Given the description of an element on the screen output the (x, y) to click on. 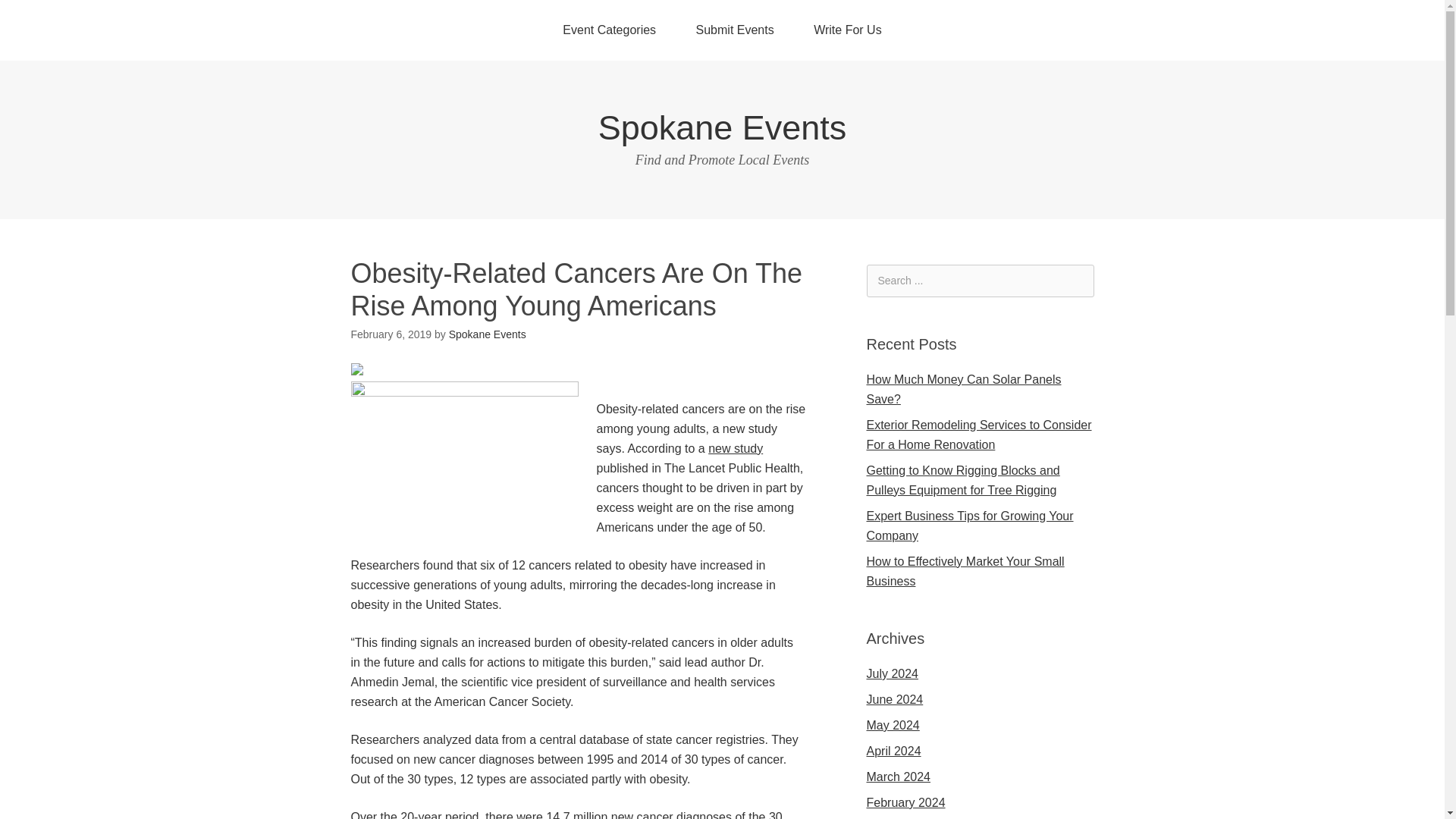
Spokane Events (722, 127)
How Much Money Can Solar Panels Save? (963, 389)
Event Categories (609, 30)
Search for: (979, 280)
July 2024 (892, 673)
Write For Us (846, 30)
April 2024 (893, 750)
March 2024 (898, 776)
